Given the description of an element on the screen output the (x, y) to click on. 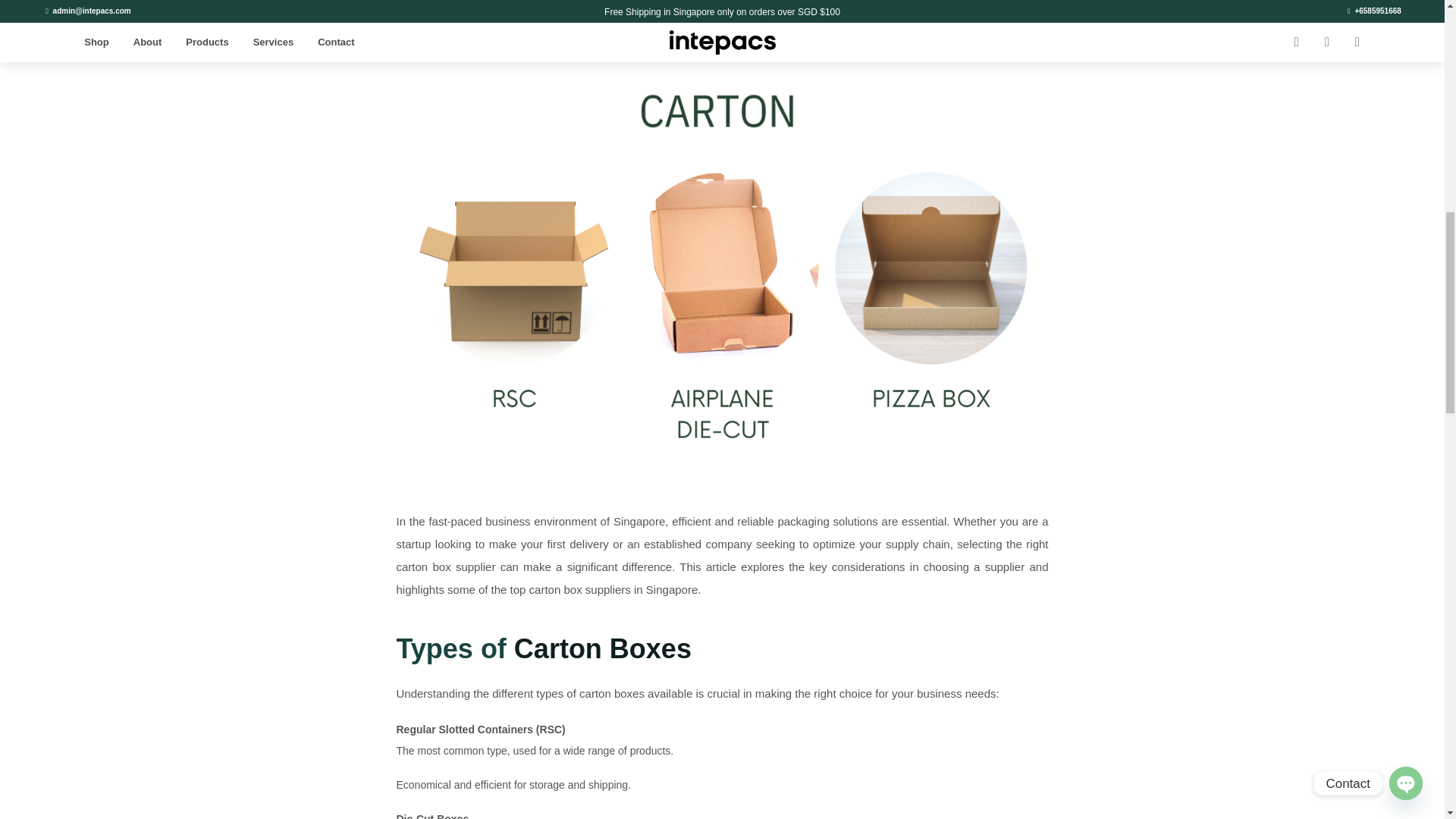
Carton Boxes (602, 648)
